Given the description of an element on the screen output the (x, y) to click on. 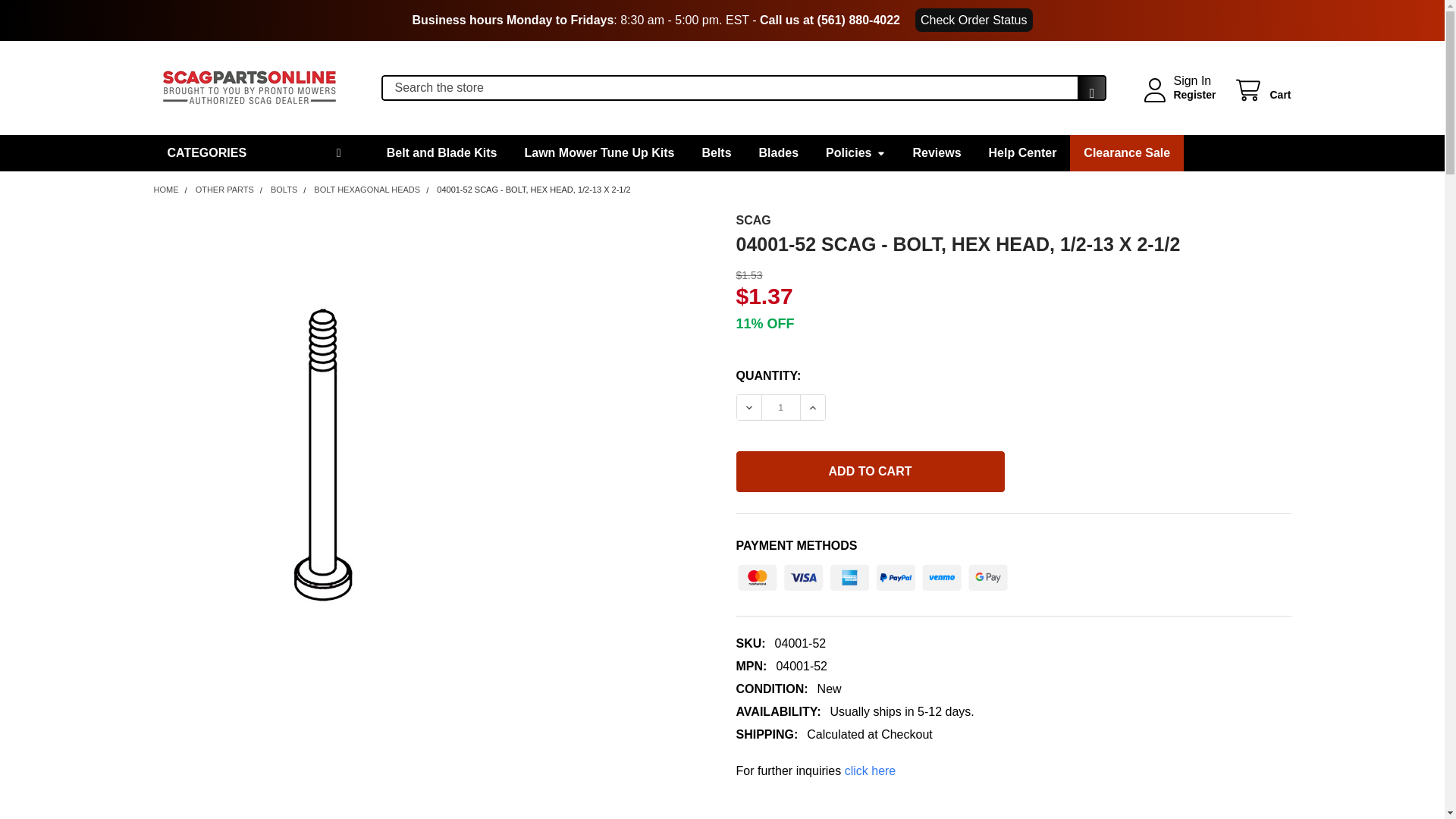
1 (780, 407)
CATEGORIES (255, 153)
Cart (1261, 90)
Sign In (1192, 80)
Search (1087, 93)
Add to Cart (869, 471)
Cart (1261, 90)
Check Order Status (973, 19)
Search (1087, 93)
Payment Methods (872, 573)
